Given the description of an element on the screen output the (x, y) to click on. 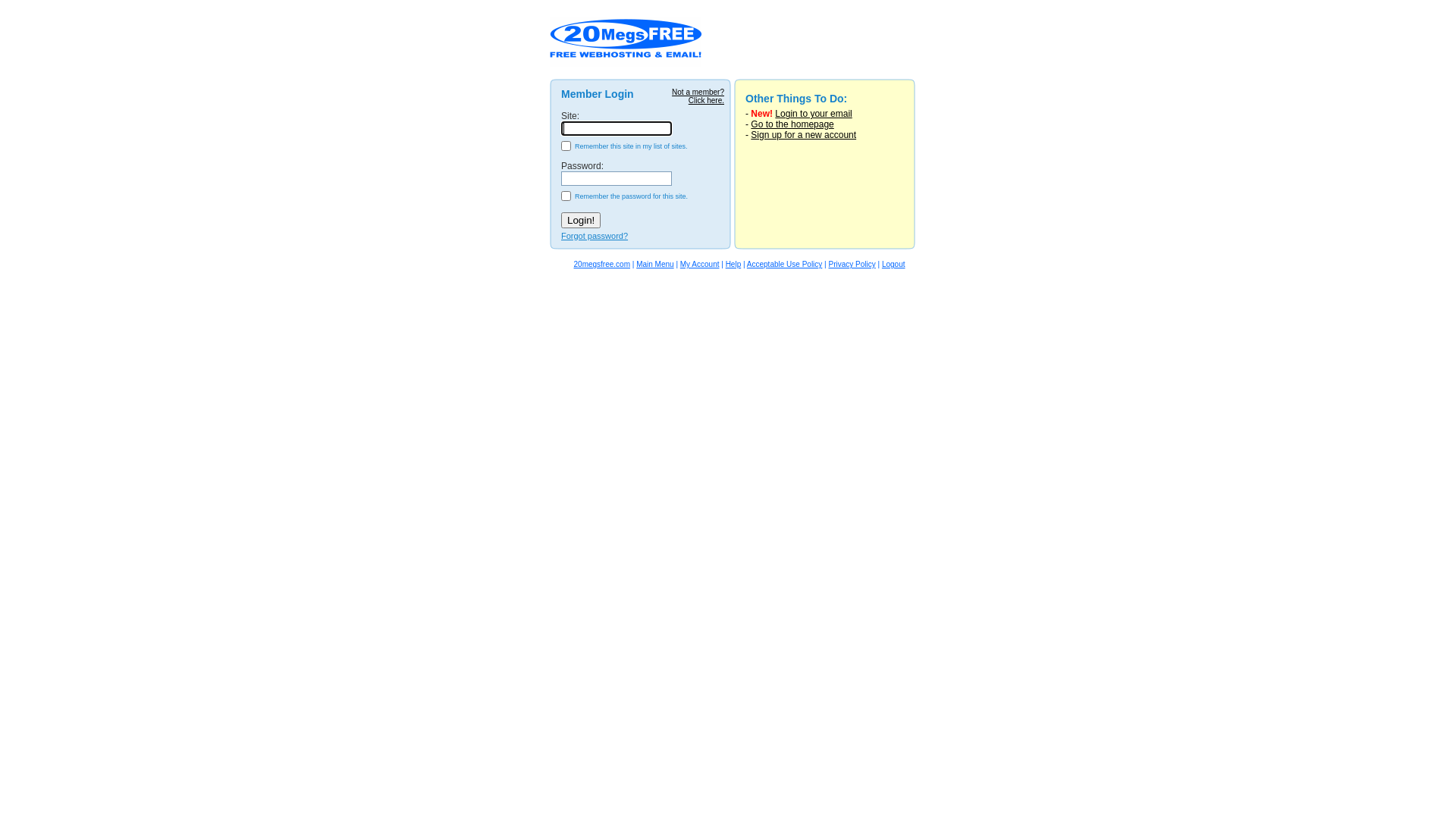
Not a member?
Click here. Element type: text (697, 95)
20megsfree.com Element type: text (602, 264)
Go to the homepage Element type: text (791, 124)
Forgot password? Element type: text (594, 235)
Logout Element type: text (893, 264)
Privacy Policy Element type: text (851, 264)
true Element type: text (566, 145)
My Account Element type: text (699, 264)
Sign up for a new account Element type: text (803, 134)
Login! Element type: text (580, 220)
Help Element type: text (733, 264)
Acceptable Use Policy Element type: text (784, 264)
Login to your email Element type: text (813, 113)
Main Menu Element type: text (654, 264)
